Given the description of an element on the screen output the (x, y) to click on. 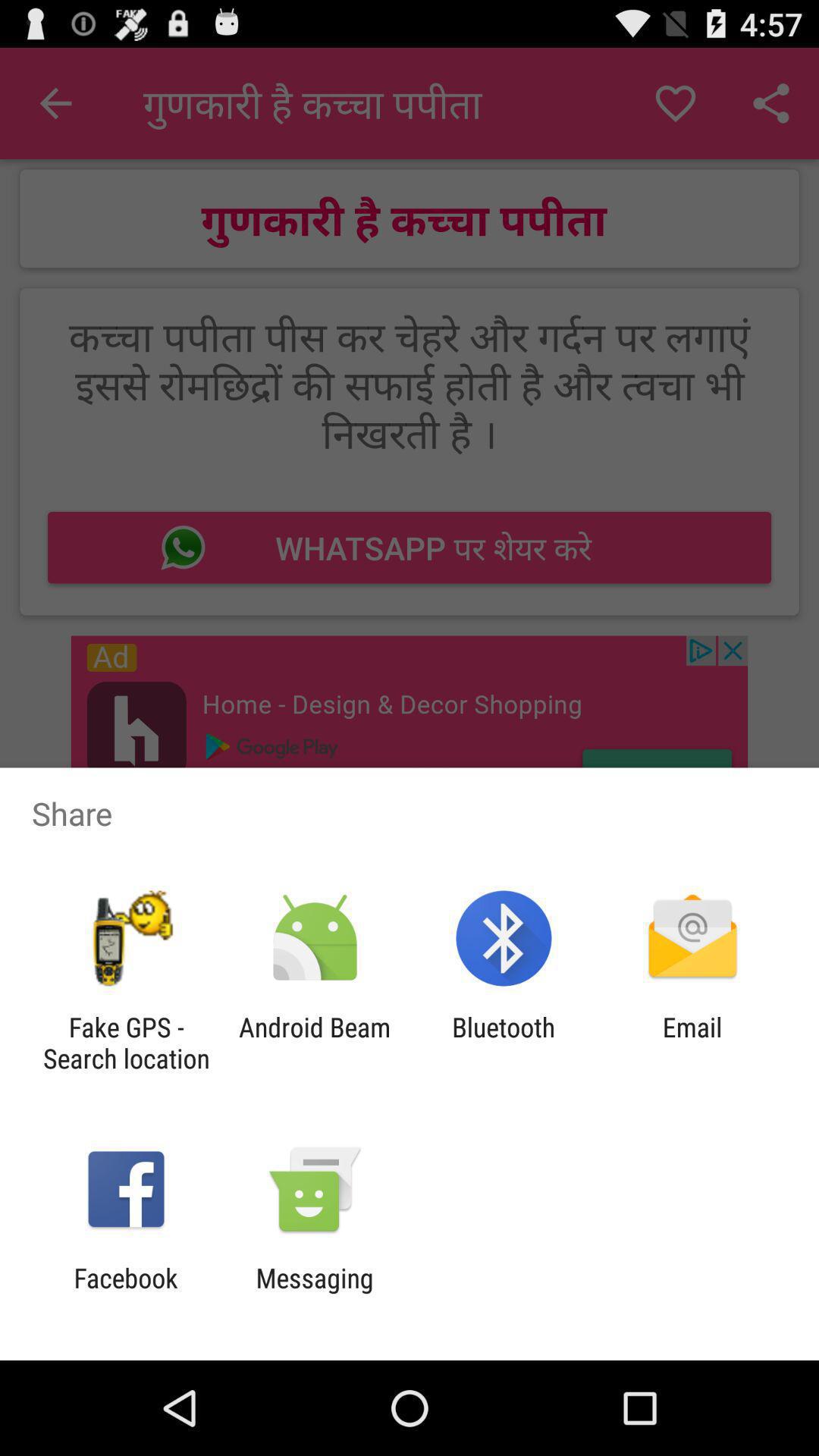
swipe to messaging app (314, 1293)
